Given the description of an element on the screen output the (x, y) to click on. 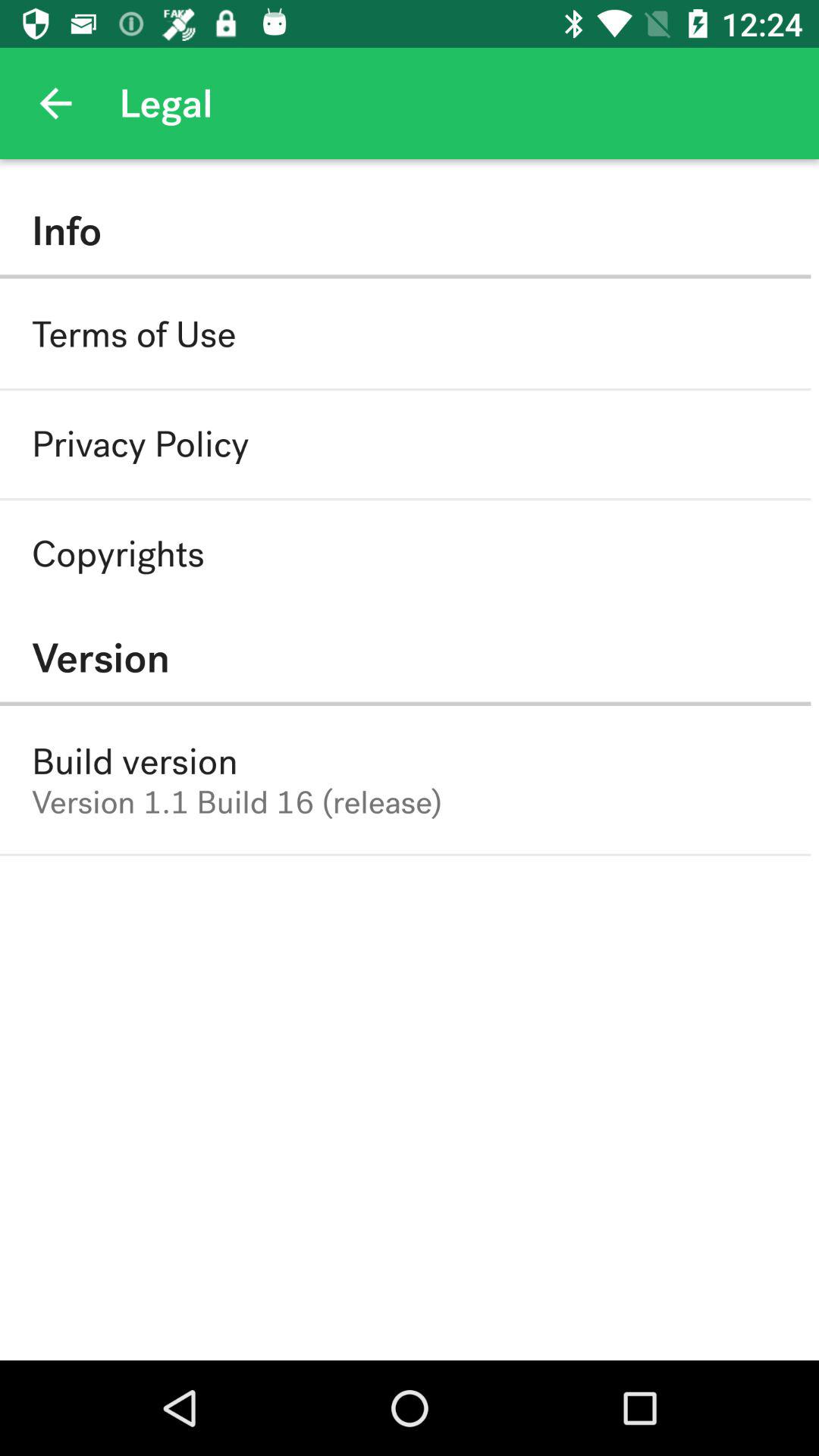
tap the icon below build version icon (236, 802)
